Given the description of an element on the screen output the (x, y) to click on. 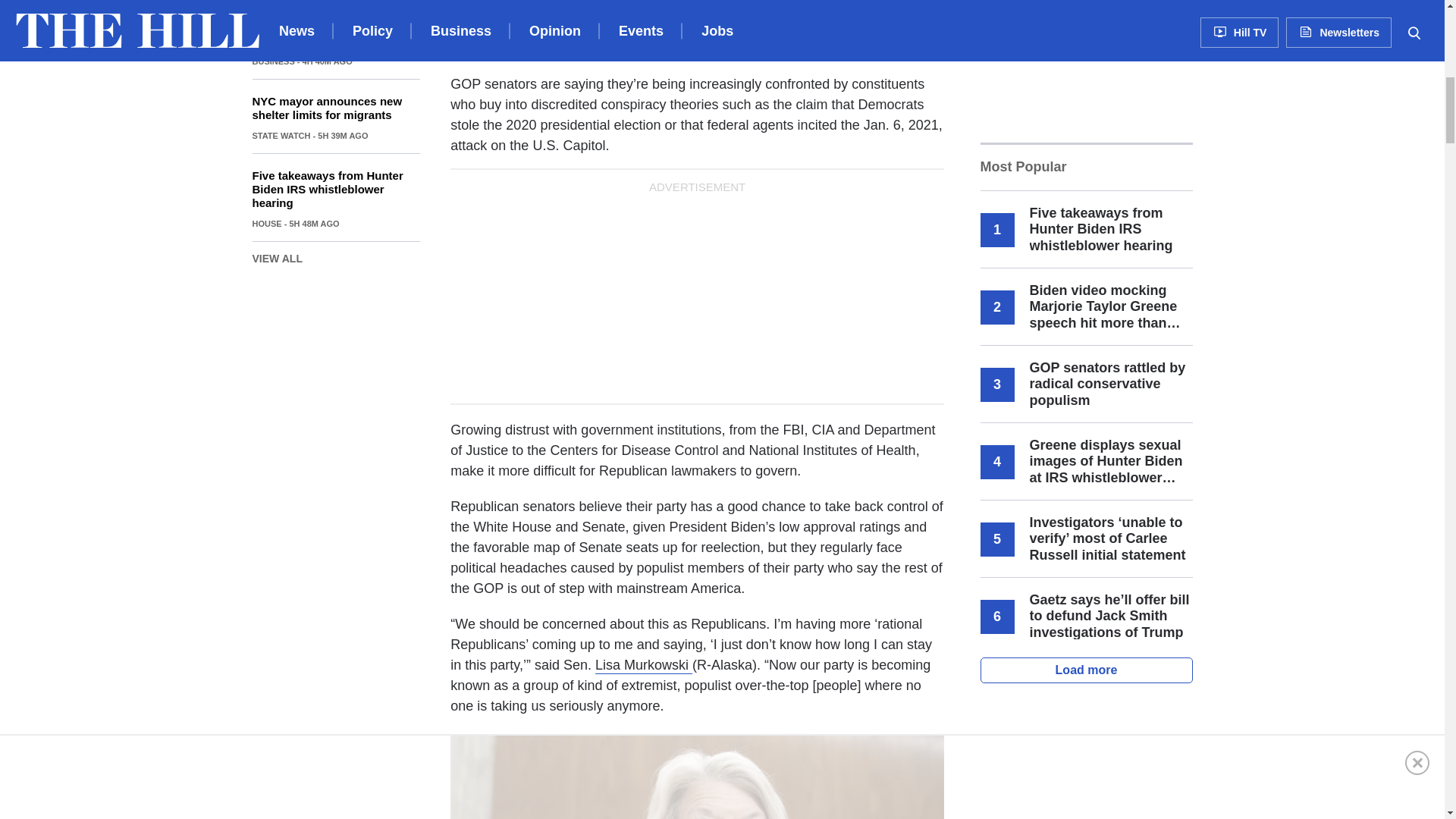
3rd party ad content (1093, 757)
3rd party ad content (1093, 65)
3rd party ad content (696, 294)
